Given the description of an element on the screen output the (x, y) to click on. 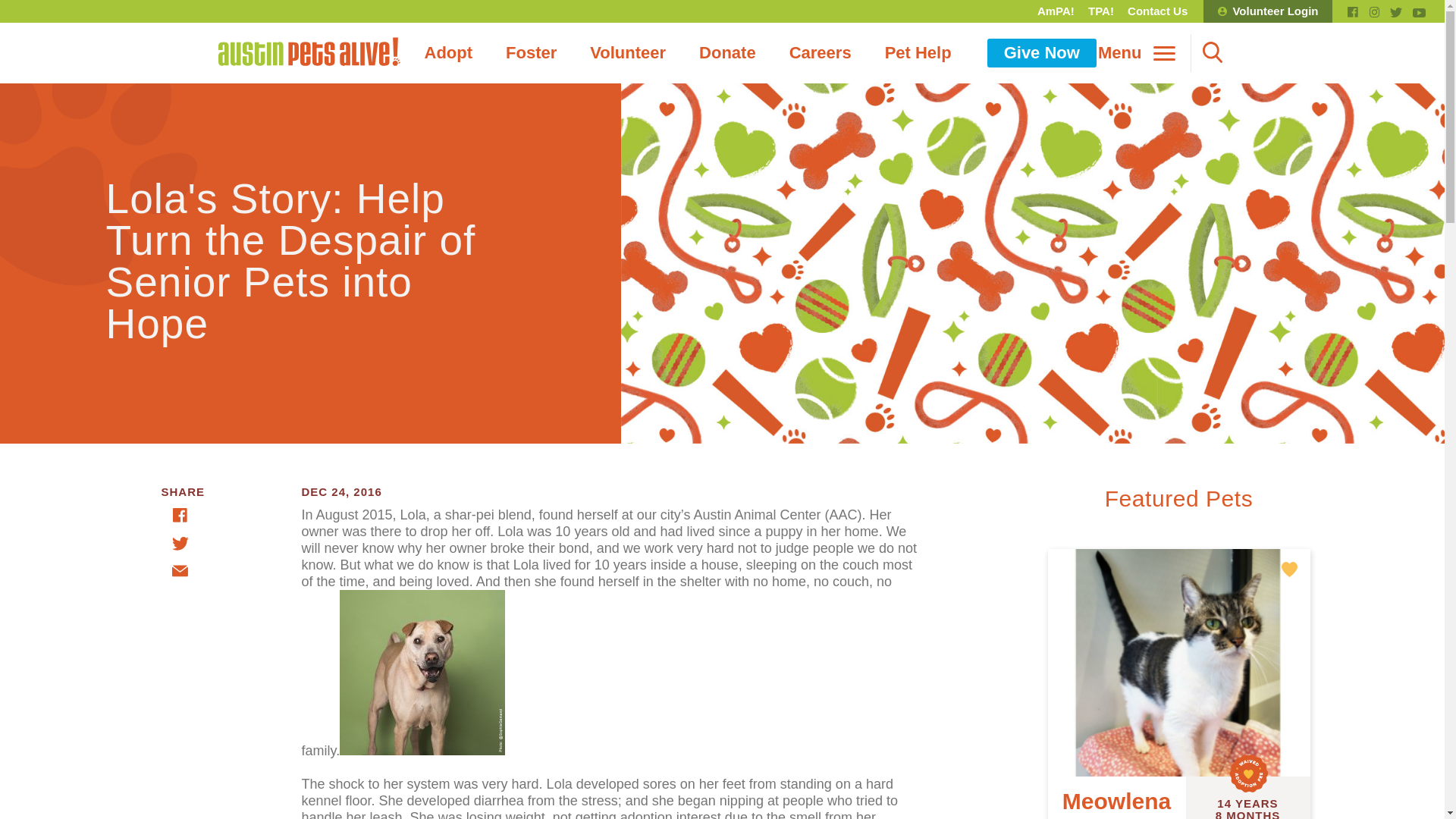
Careers (820, 52)
TPA! (1101, 11)
Adopt (448, 52)
Donate (727, 52)
Contact Us (1157, 11)
AmPA! (1056, 11)
Volunteer (627, 52)
Foster (531, 52)
Volunteer Login (1268, 11)
